Given the description of an element on the screen output the (x, y) to click on. 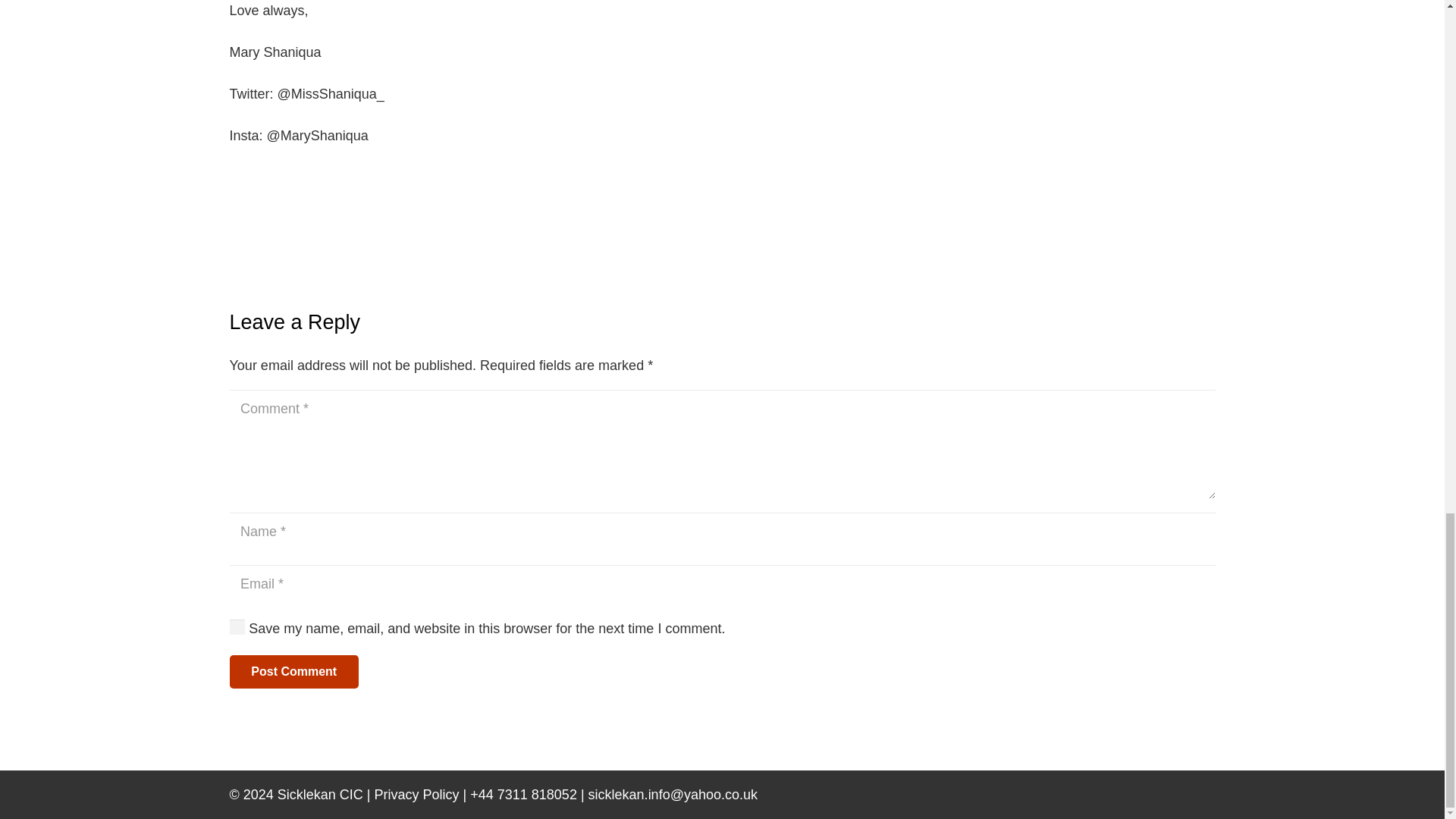
1 (237, 627)
Privacy Policy (417, 794)
Post Comment (293, 672)
